Given the description of an element on the screen output the (x, y) to click on. 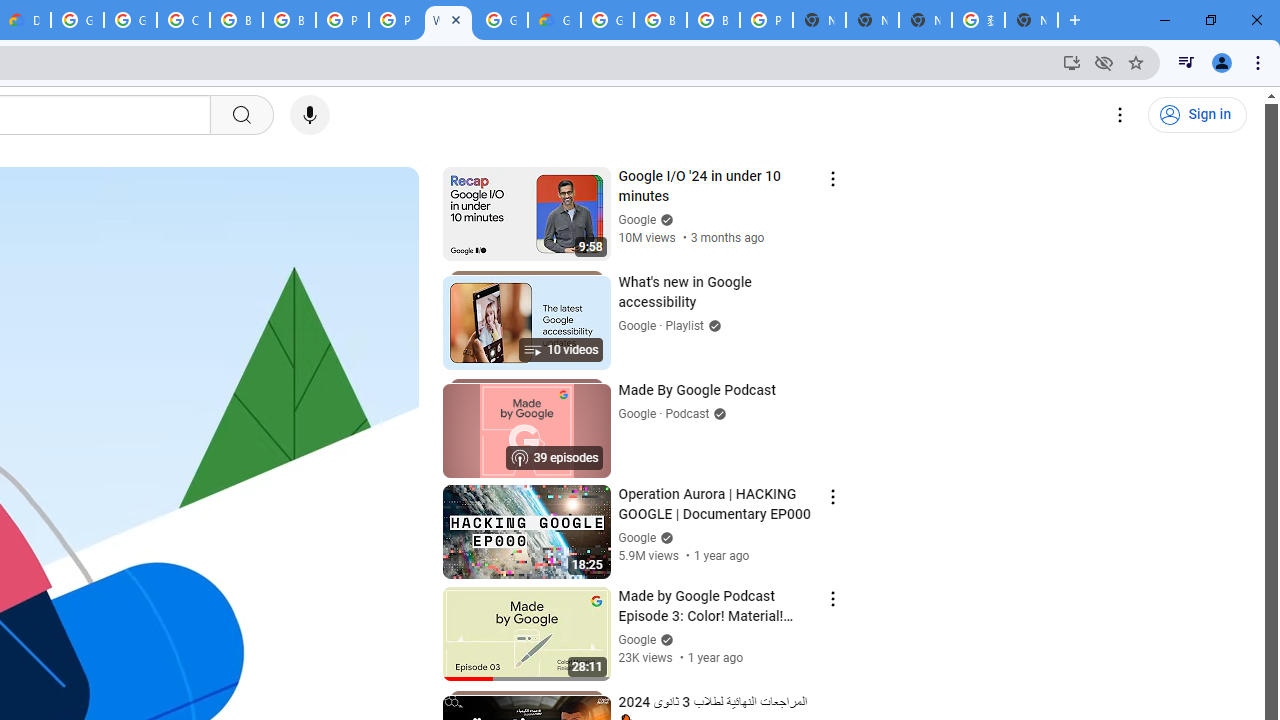
Google Cloud Platform (607, 20)
Google Cloud Platform (501, 20)
New Tab (1031, 20)
Verified (664, 639)
Install YouTube (1071, 62)
Browse Chrome as a guest - Computer - Google Chrome Help (289, 20)
